Given the description of an element on the screen output the (x, y) to click on. 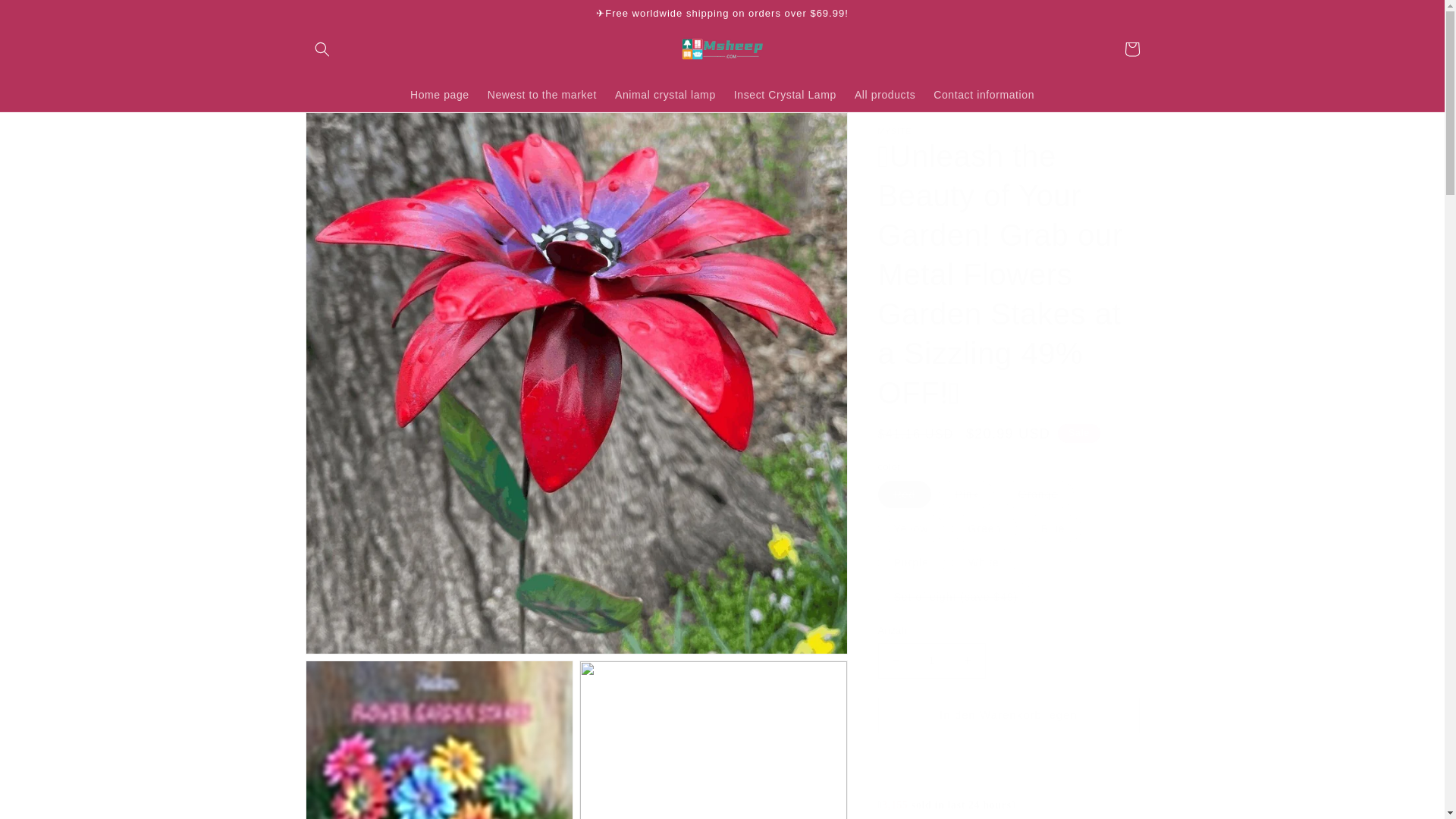
All products (884, 94)
Newest to the market (542, 94)
1 (931, 660)
Animal crystal lamp (665, 94)
Contact information (983, 94)
Home page (440, 94)
Zu Produktinformationen springen (350, 129)
